Given the description of an element on the screen output the (x, y) to click on. 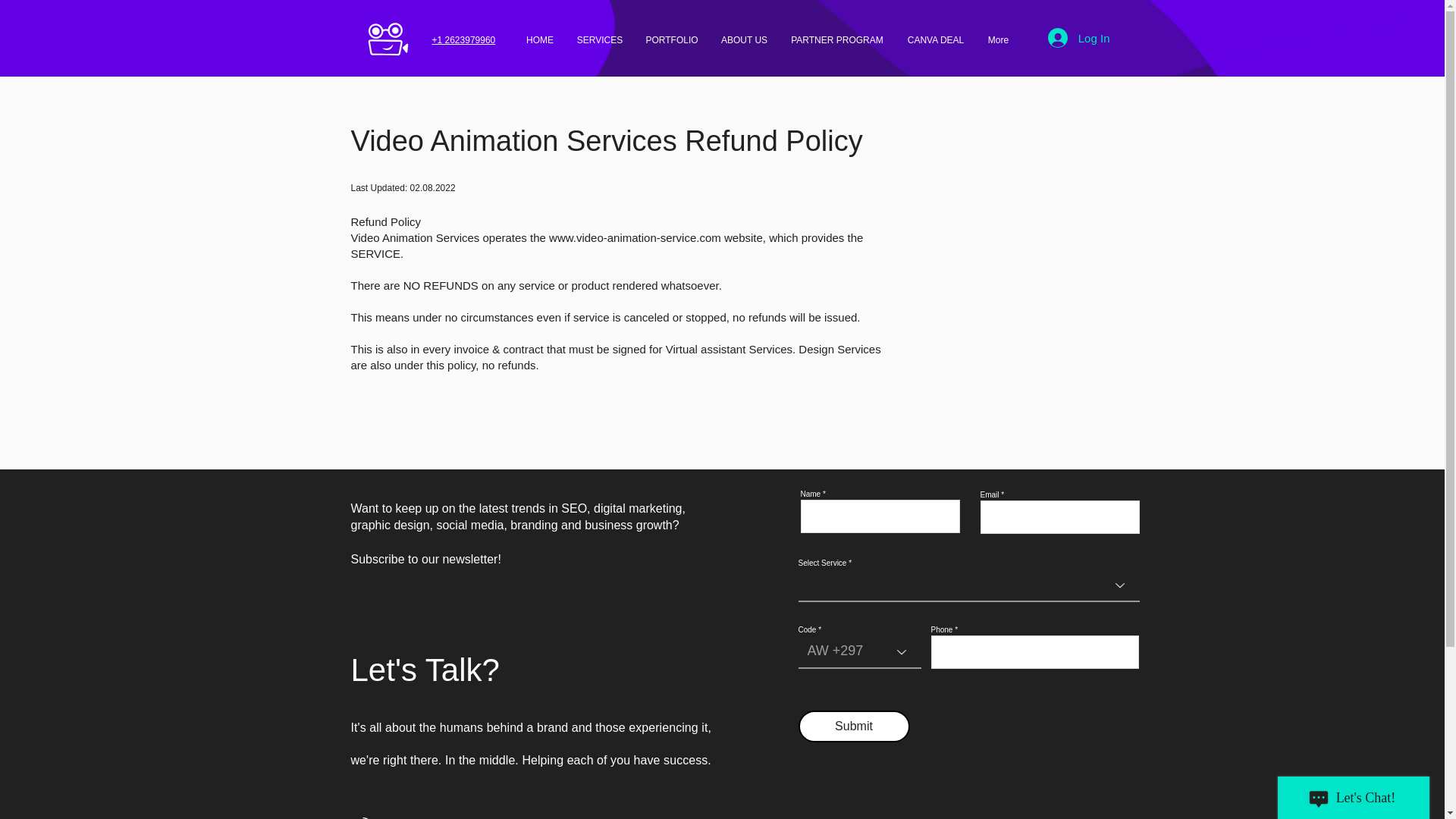
CANVA DEAL (935, 39)
HOME (538, 39)
SERVICES (600, 39)
Submit (852, 726)
Log In (1078, 37)
ABOUT US (744, 39)
PARTNER PROGRAM (836, 39)
